Given the description of an element on the screen output the (x, y) to click on. 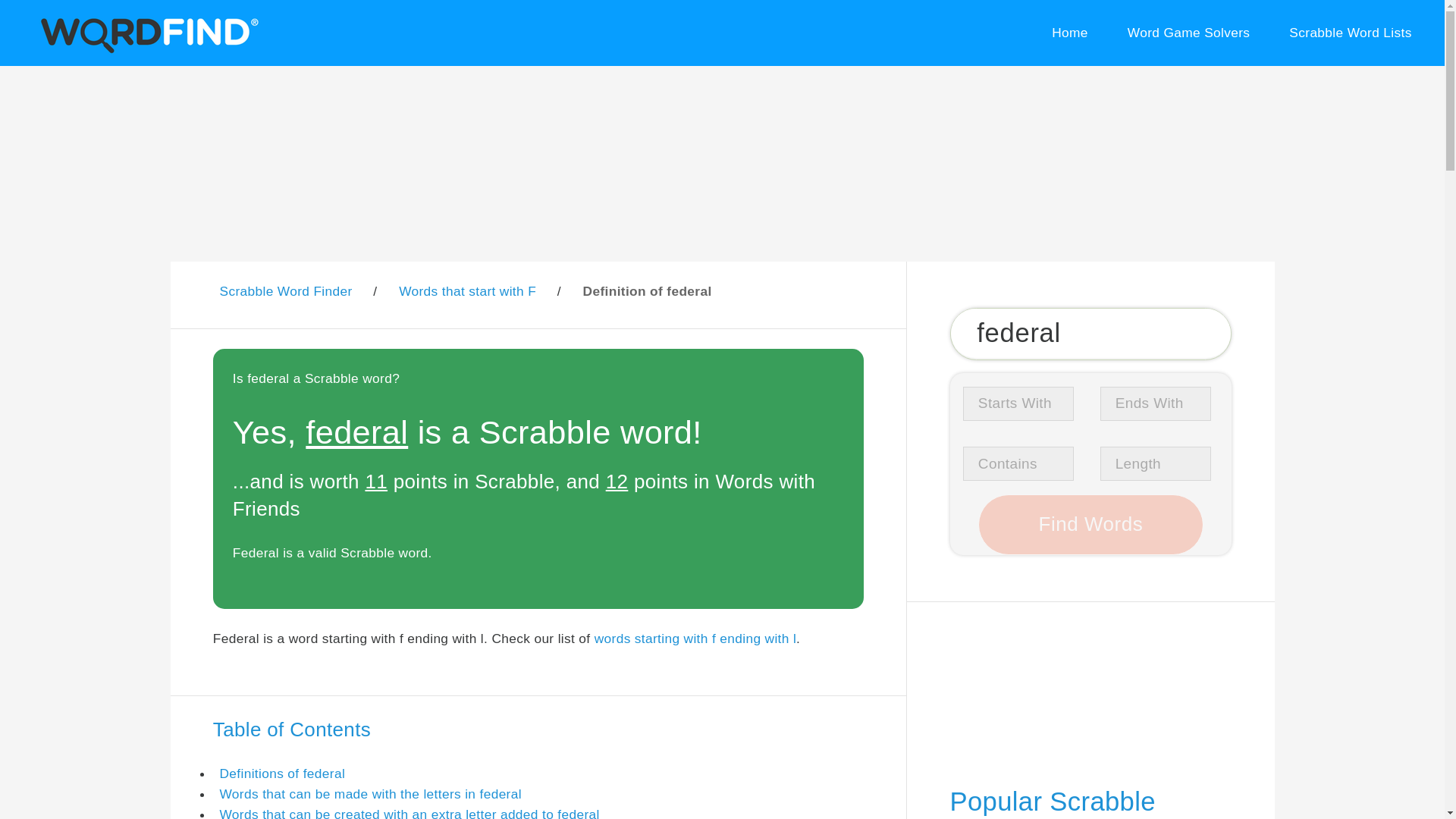
Return Home to Wordfind.com (146, 50)
Scrabble Word Finder (285, 290)
Scrabble Word Lists menu (1350, 33)
Find Words (1091, 525)
Home (1069, 33)
words starting with f ending with l (695, 638)
Word Game Solvers menu (1187, 33)
Words that start with F (466, 290)
Scrabble Word Lists (1350, 33)
Words that can be made with the letters in federal (370, 793)
wordfind.com logo (146, 32)
federal (1090, 333)
Definitions of federal (282, 773)
Word Game Solvers (1187, 33)
Return Home (1069, 33)
